Given the description of an element on the screen output the (x, y) to click on. 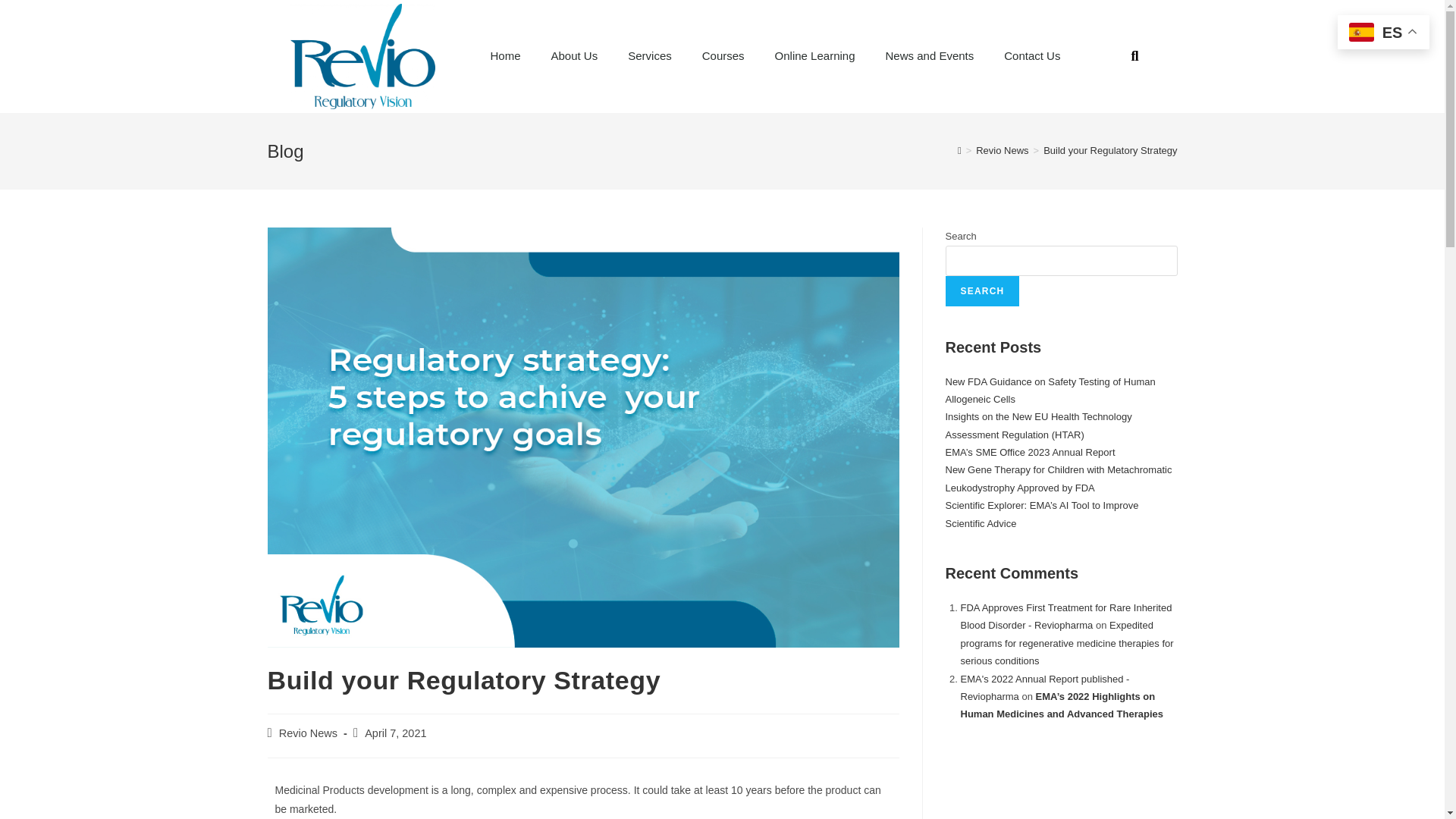
Courses (723, 56)
Services (649, 56)
Contact Us (1031, 56)
New FDA Guidance on Safety Testing of Human Allogeneic Cells (1049, 389)
Online Learning (815, 56)
News and Events (930, 56)
Build your Regulatory Strategy (1109, 150)
Revio News (1001, 150)
About Us (573, 56)
Revio News (308, 733)
SEARCH (981, 291)
